Given the description of an element on the screen output the (x, y) to click on. 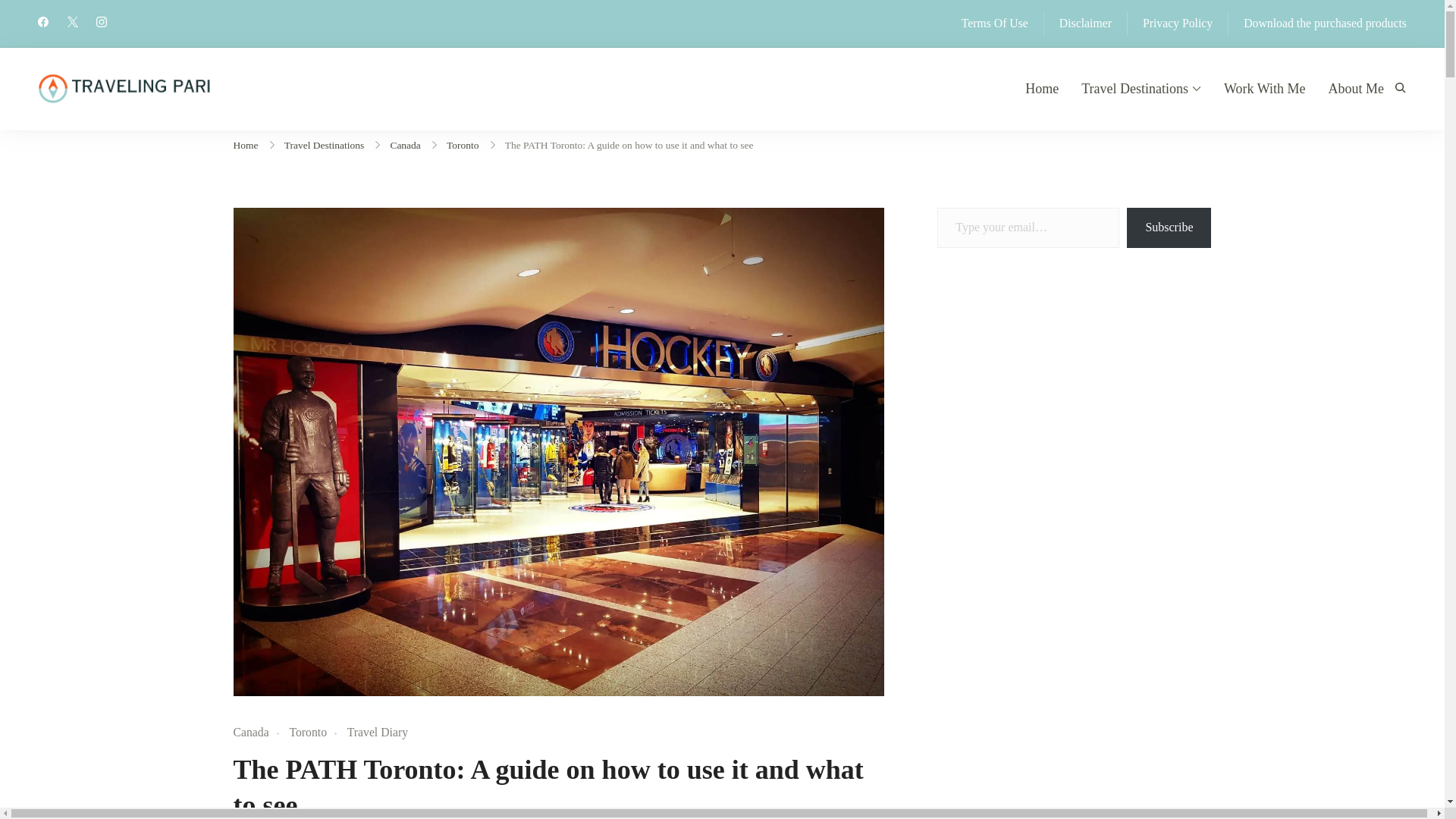
Traveling Pari (336, 185)
About Me (1355, 89)
Travel Destinations (1141, 89)
Download the purchased products (1324, 23)
Terms Of Use (993, 23)
Please fill in this field. (1028, 228)
Work With Me (1264, 89)
Disclaimer (1085, 23)
Privacy Policy (1177, 23)
